Given the description of an element on the screen output the (x, y) to click on. 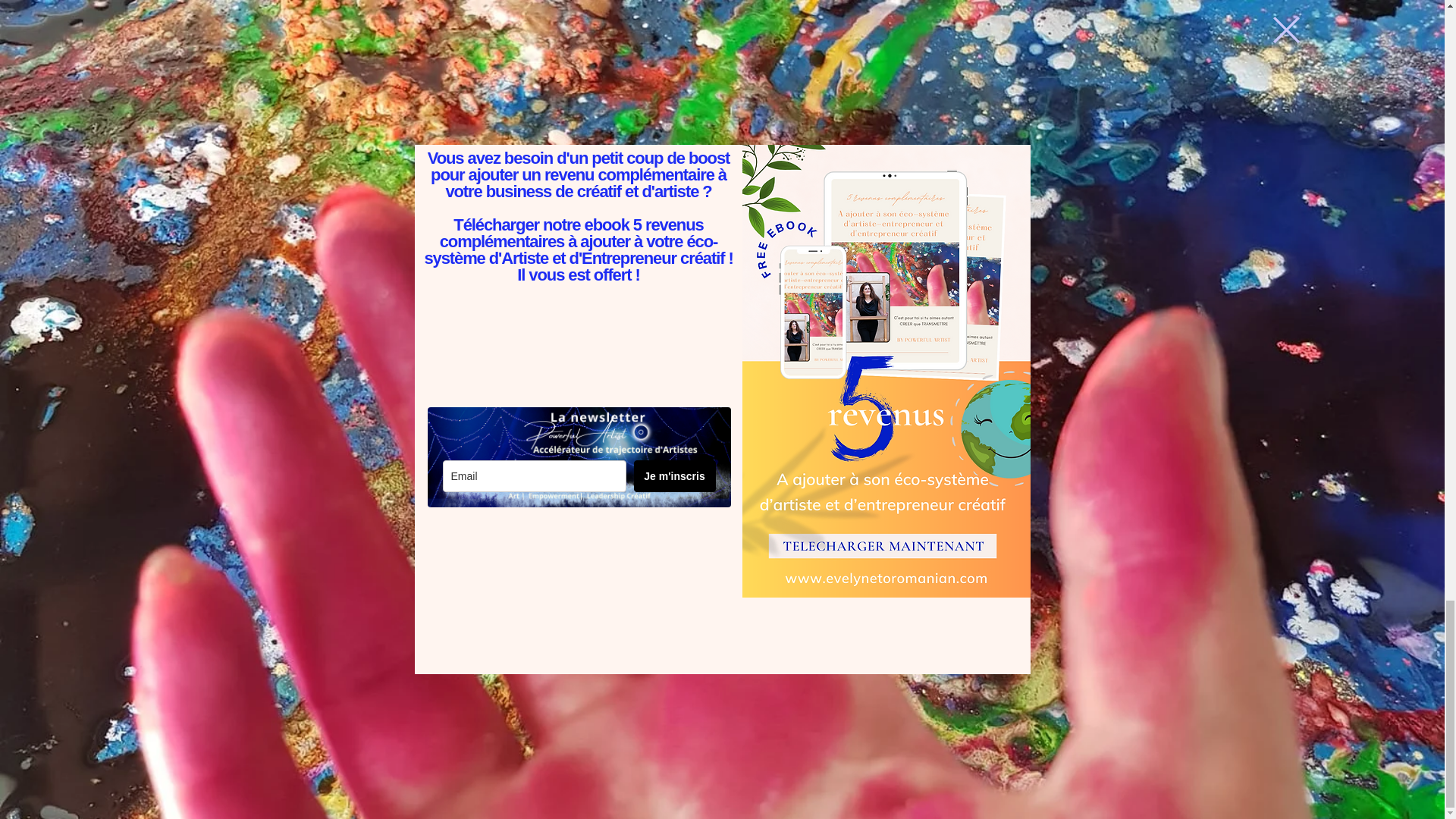
CONTACT (758, 708)
Art (996, 147)
See All (1061, 275)
0 (435, 513)
HOME (758, 587)
ART SHOP (758, 611)
Post not marked as liked (995, 192)
BLOG (758, 684)
Post not marked as liked (558, 512)
Here come the sun (476, 451)
